Given the description of an element on the screen output the (x, y) to click on. 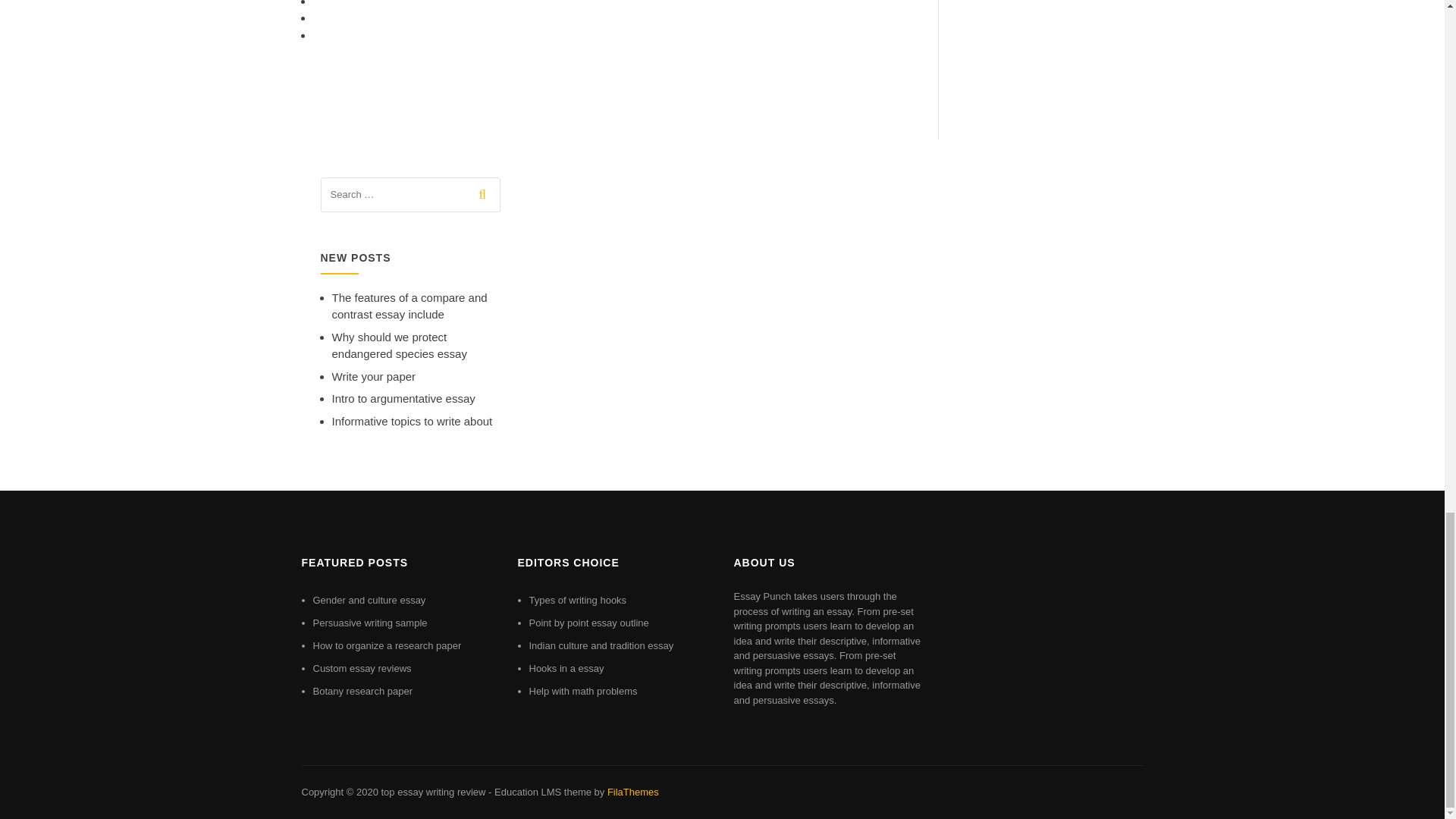
Point by point essay outline (589, 622)
top essay writing review (432, 791)
Botany research paper (362, 690)
Intro to argumentative essay (403, 398)
Gender and culture essay (369, 600)
Help with math problems (583, 690)
Types of writing hooks (578, 600)
Informative topics to write about (412, 420)
Indian culture and tradition essay (601, 645)
How to organize a research paper (387, 645)
